Given the description of an element on the screen output the (x, y) to click on. 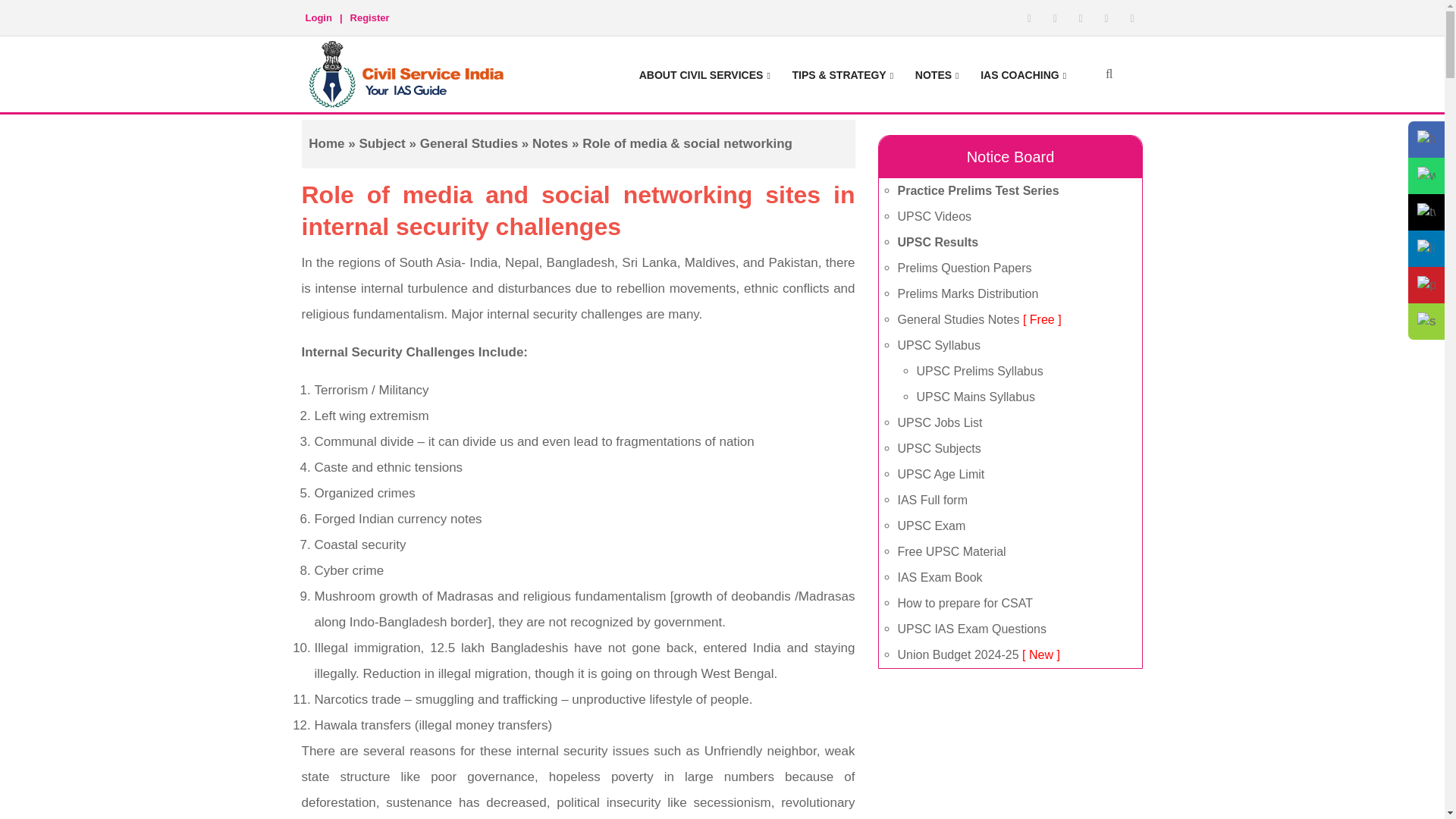
Login (318, 14)
Register (369, 14)
Guidance for Civil services Exam (704, 73)
ABOUT CIVIL SERVICES (704, 73)
IAS guide for civil service exam (408, 74)
